Given the description of an element on the screen output the (x, y) to click on. 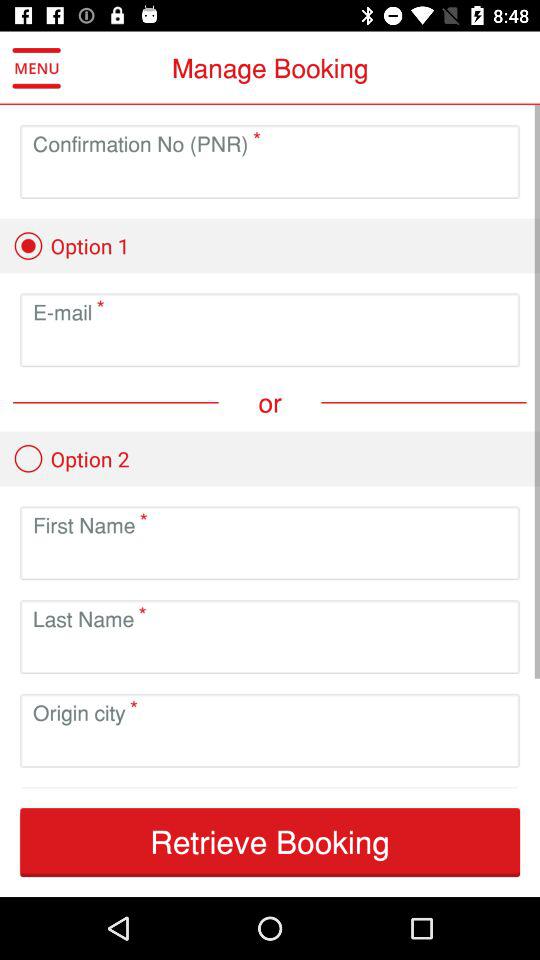
swipe to the retrieve booking icon (269, 842)
